Given the description of an element on the screen output the (x, y) to click on. 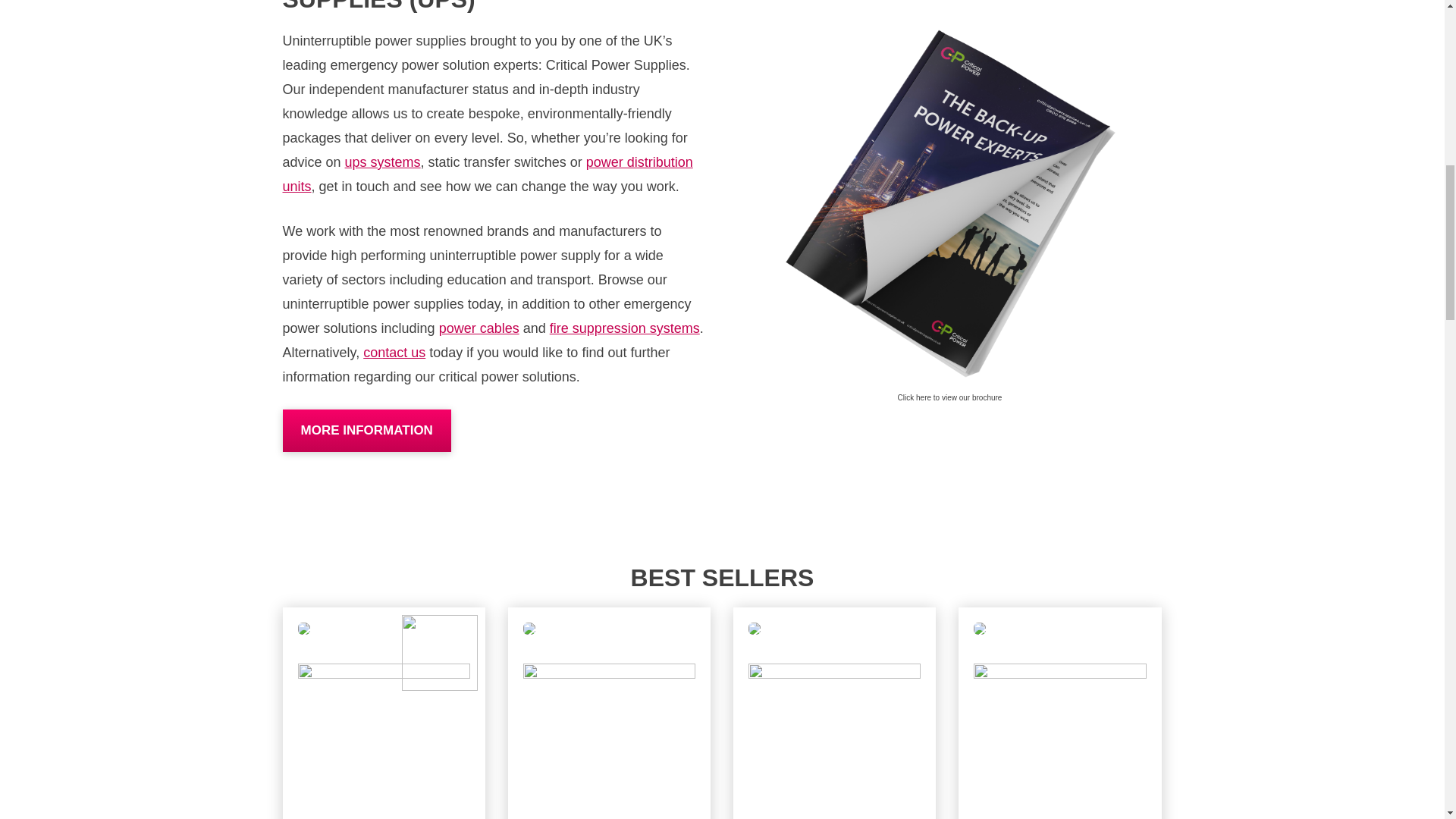
Read More on Power Distrubition Units (487, 174)
Read More on Uninterruptible Power Supplies (382, 161)
Read More on Power Cables (479, 328)
Read More on Fire Suppression Systems (625, 328)
